Given the description of an element on the screen output the (x, y) to click on. 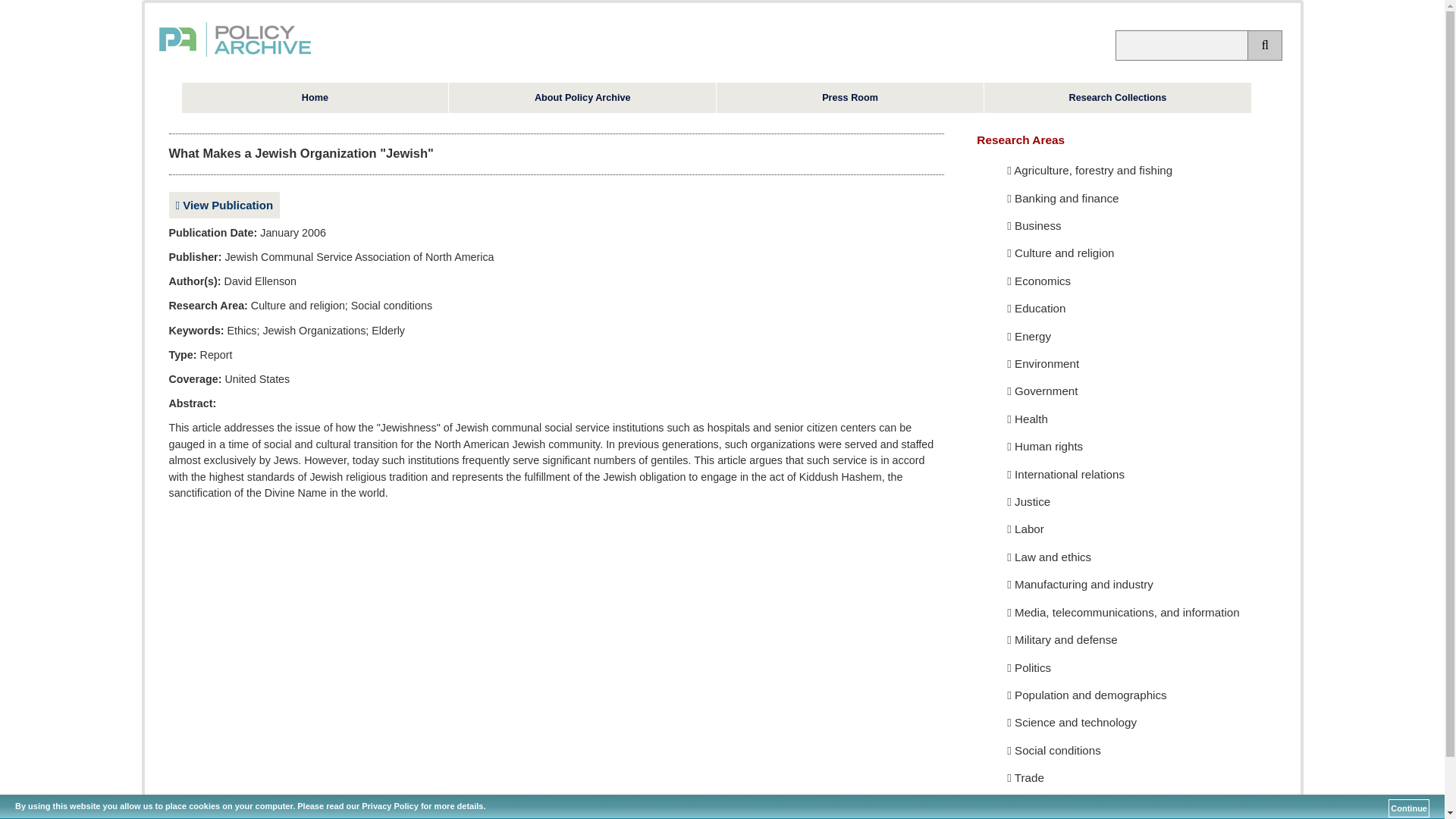
View Publication (224, 205)
Policy Archive (234, 58)
Continue (1409, 808)
Home (315, 97)
Research Collections (1117, 97)
About Policy Archive (582, 97)
Press Room (850, 97)
